Given the description of an element on the screen output the (x, y) to click on. 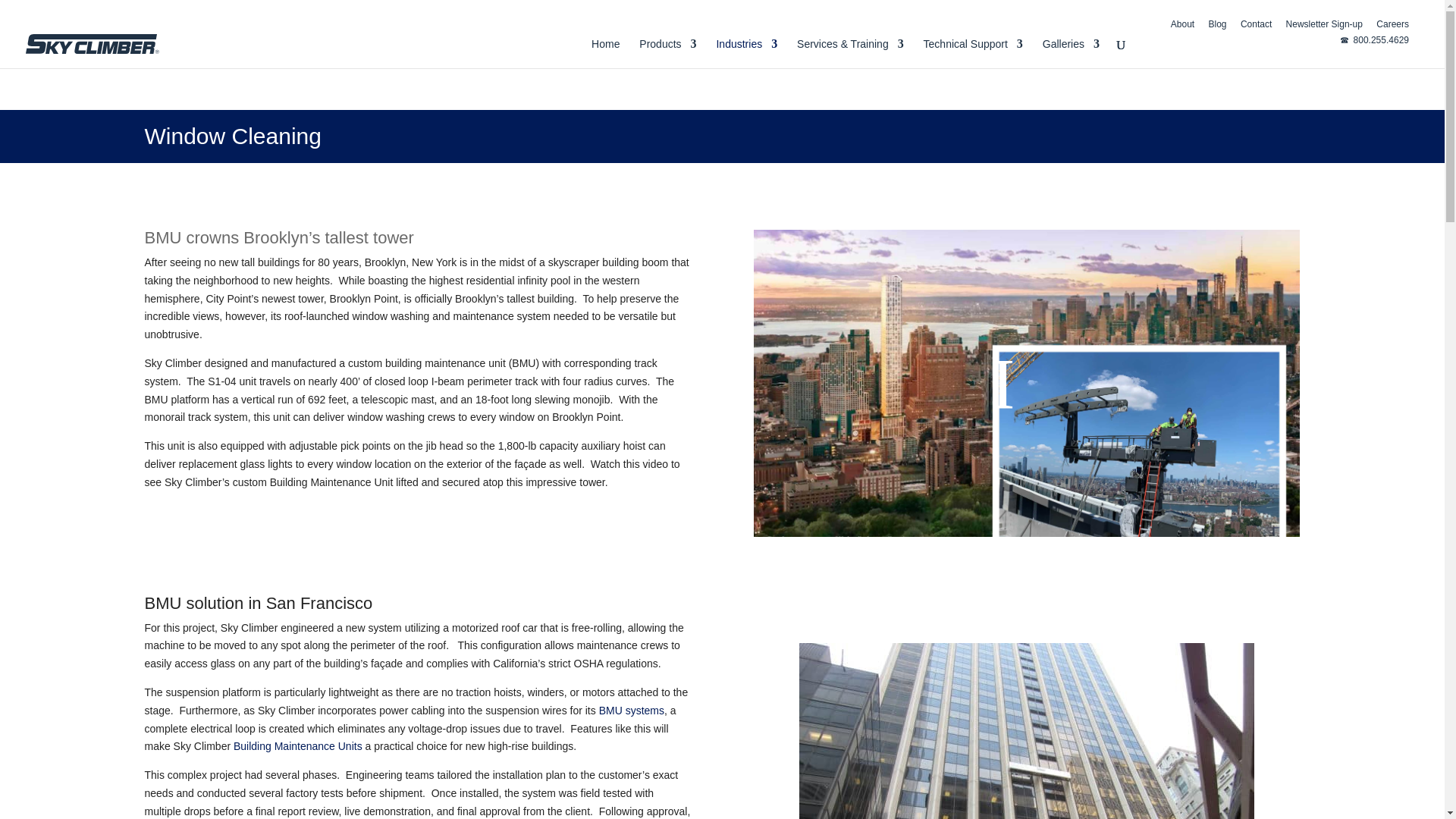
Newsletter Sign-up (1323, 27)
About (1181, 27)
800.255.4629 (1374, 43)
Home (605, 52)
Blog (1217, 27)
Careers (1392, 27)
Products (667, 52)
Contact (1255, 27)
